Given the description of an element on the screen output the (x, y) to click on. 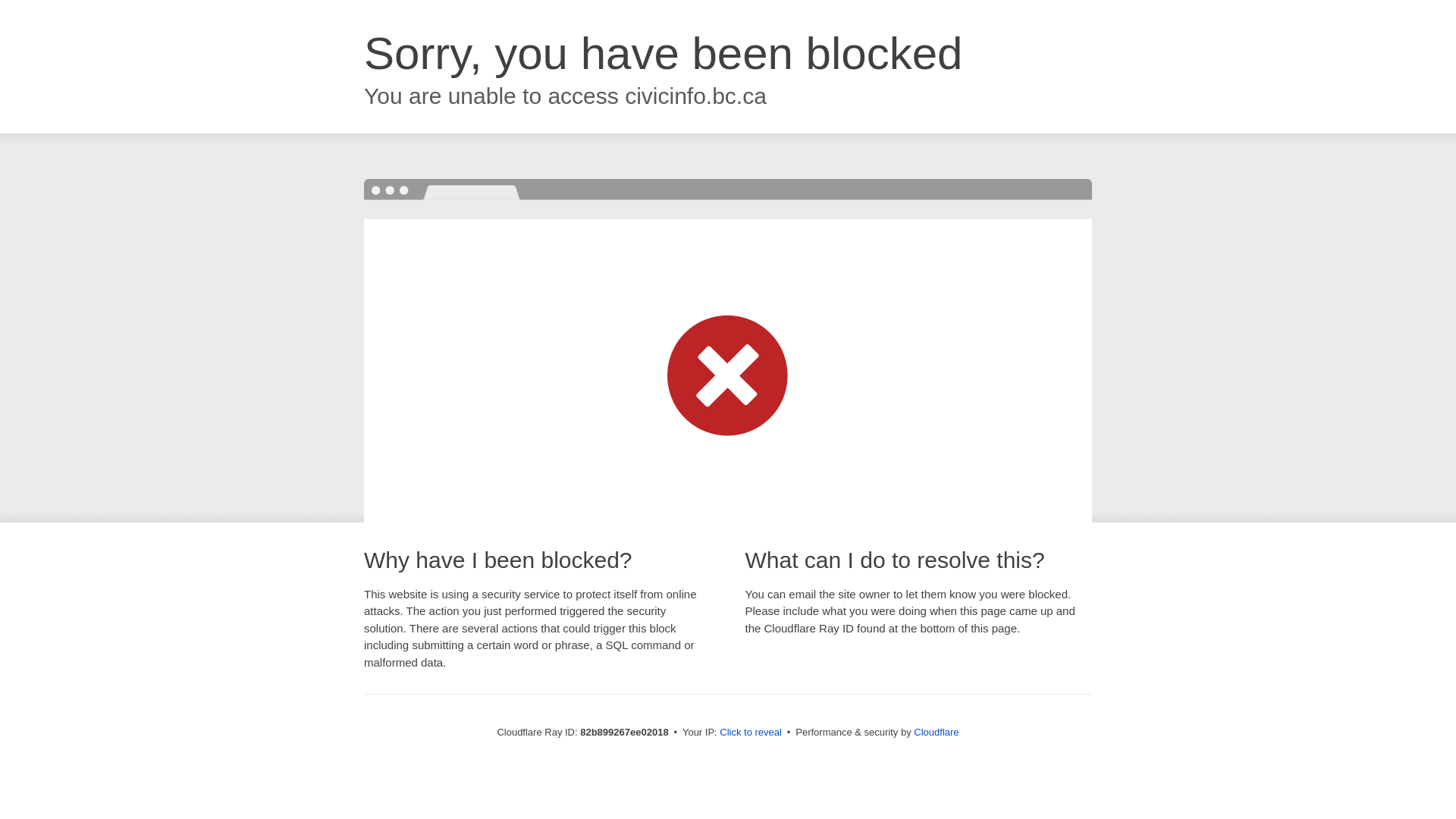
Click to reveal Element type: text (750, 732)
Cloudflare Element type: text (935, 731)
